Given the description of an element on the screen output the (x, y) to click on. 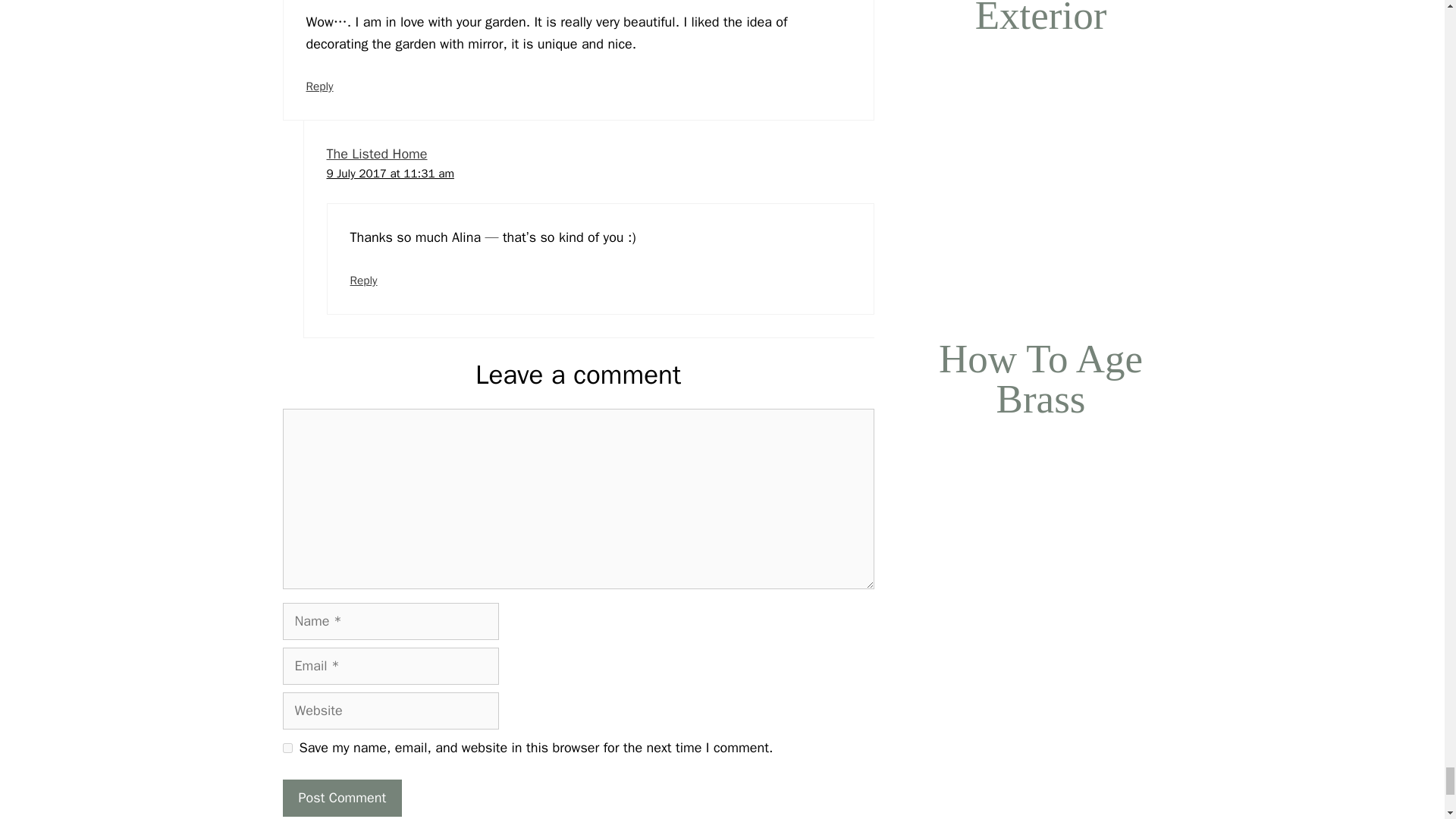
Post Comment (341, 797)
yes (287, 747)
